Given the description of an element on the screen output the (x, y) to click on. 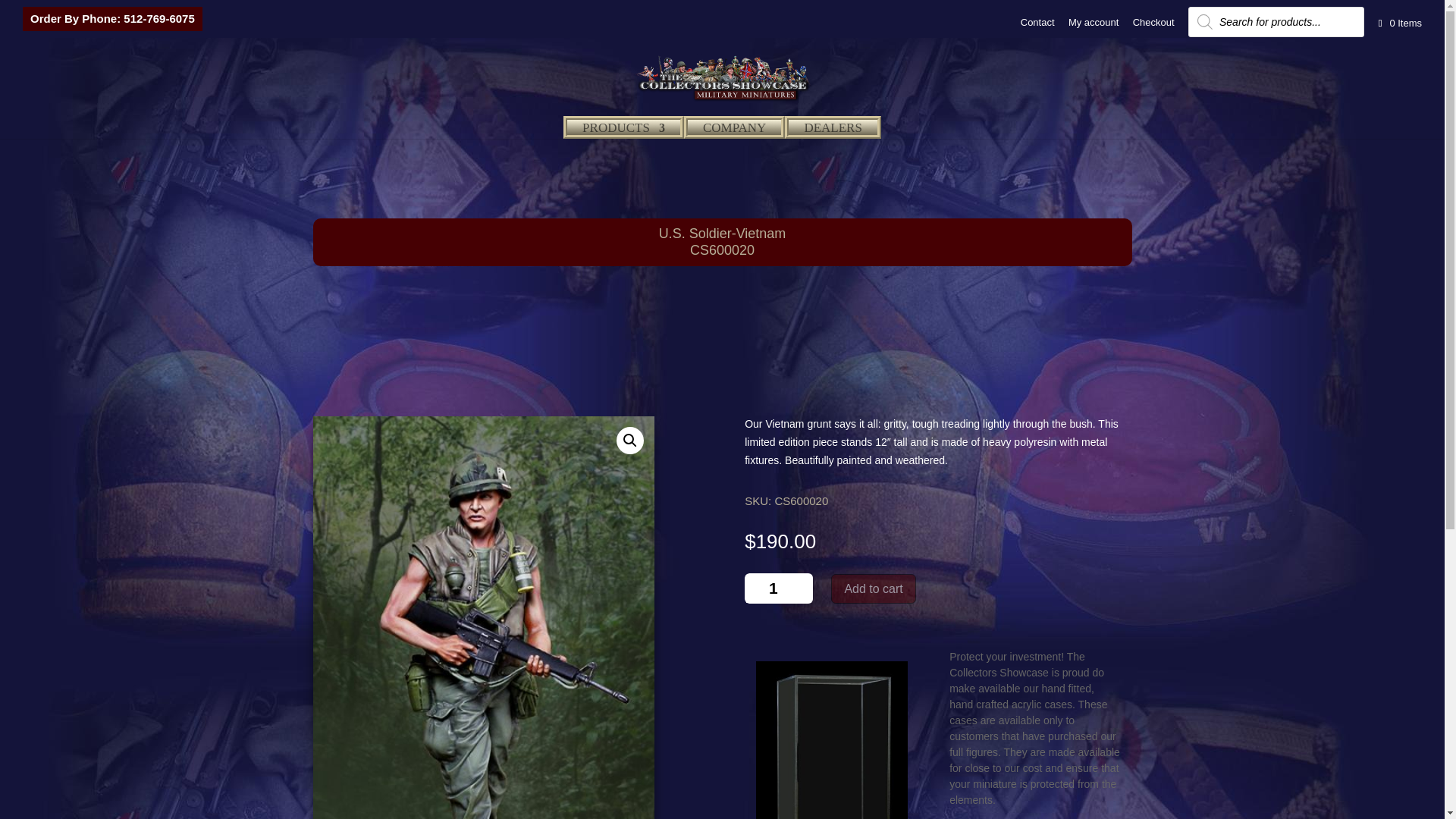
PRODUCTS (623, 140)
My account (1093, 26)
Contact (1037, 26)
Checkout (1153, 26)
1 (778, 588)
0 Items (1398, 22)
